Given the description of an element on the screen output the (x, y) to click on. 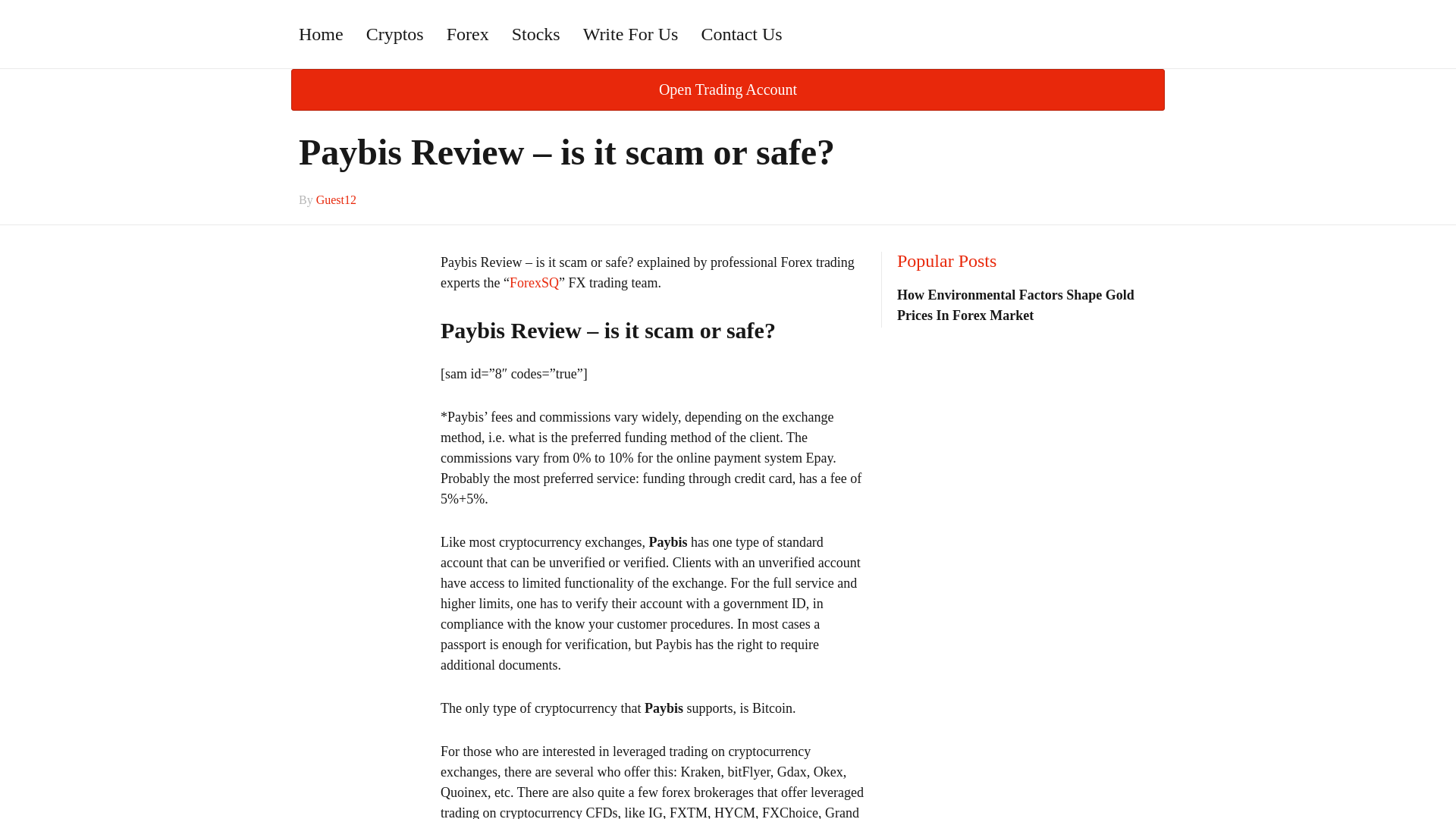
Contact Us (740, 33)
Posts by Guest12 (335, 199)
Open Trading Account (727, 89)
Write For Us (631, 33)
How Environmental Factors Shape Gold Prices In Forex Market (1015, 304)
Cryptos (395, 33)
How Environmental Factors Shape Gold Prices In Forex Market (1015, 304)
Forex (467, 33)
Guest12 (335, 199)
Stocks (536, 33)
ForexSQ (534, 282)
